Given the description of an element on the screen output the (x, y) to click on. 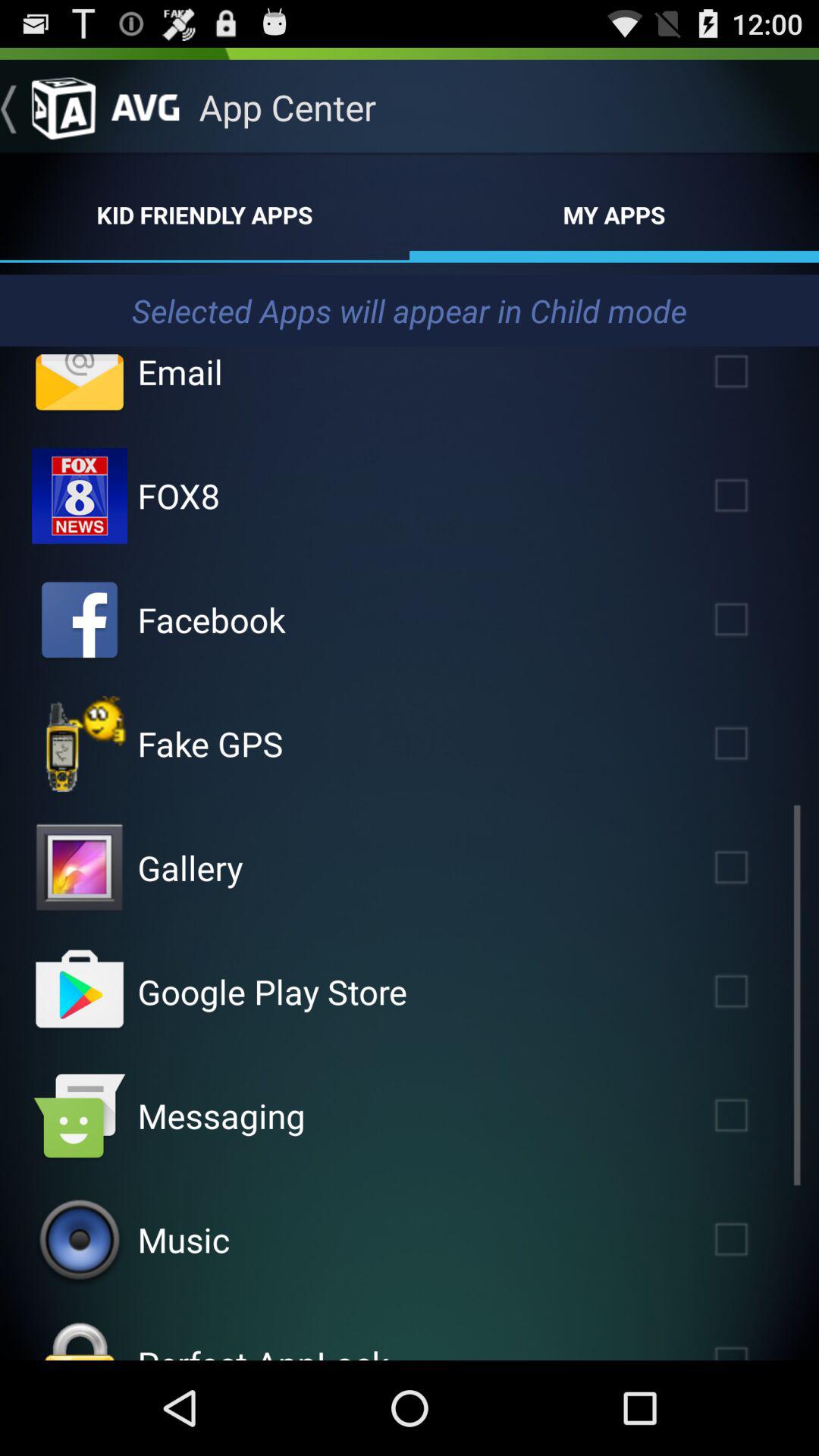
toggle app (753, 619)
